Given the description of an element on the screen output the (x, y) to click on. 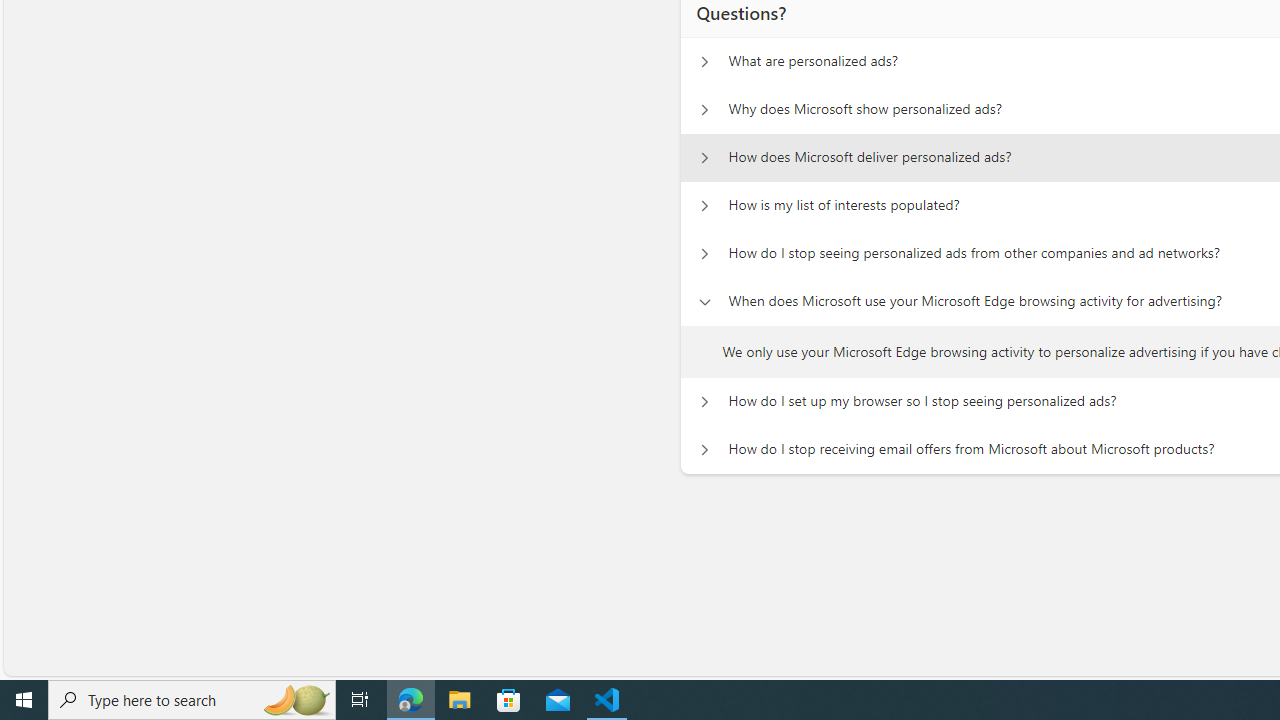
Questions? How is my list of interests populated? (704, 206)
Questions? Why does Microsoft show personalized ads? (704, 110)
Questions? What are personalized ads? (704, 62)
Questions? How does Microsoft deliver personalized ads? (704, 157)
